Given the description of an element on the screen output the (x, y) to click on. 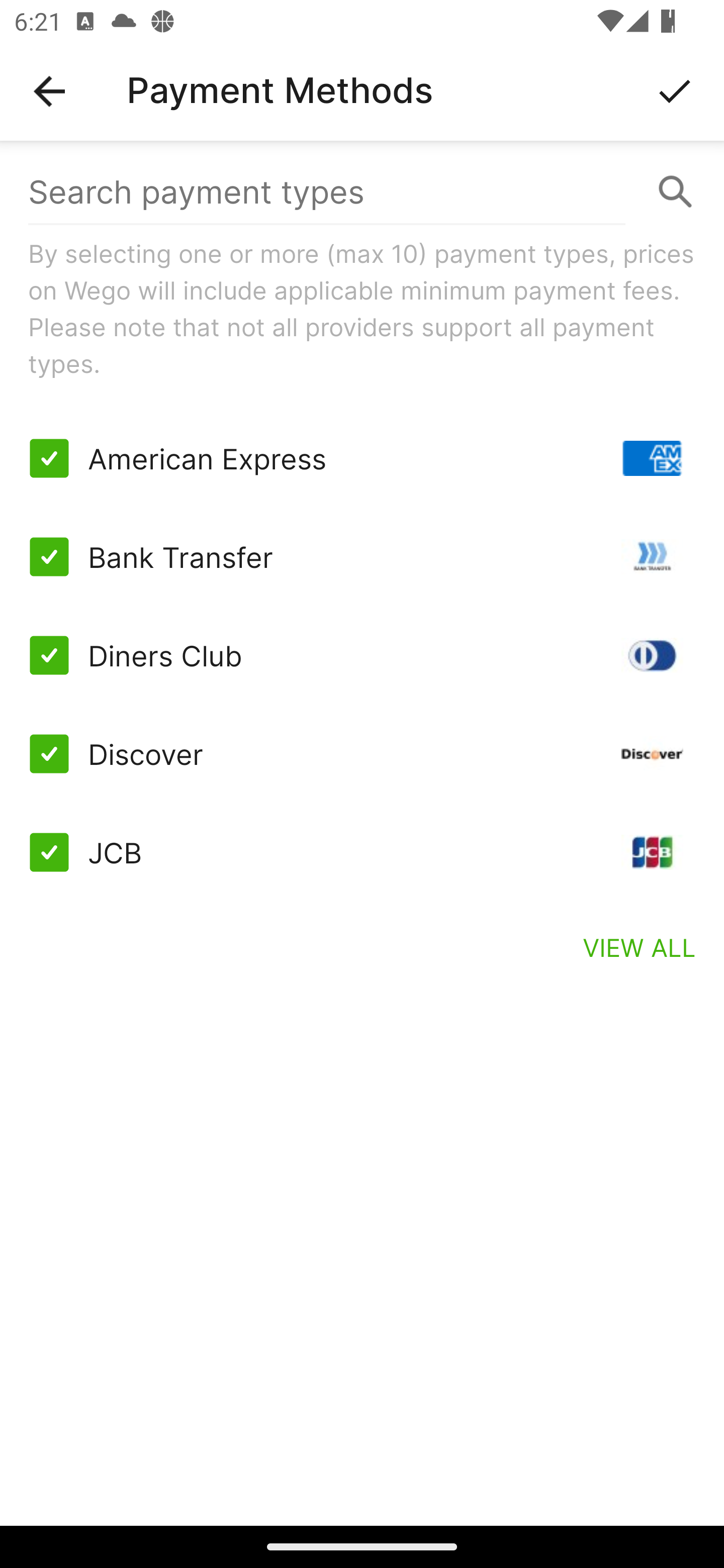
Search payment types  (361, 191)
American Express (362, 458)
Bank Transfer (362, 557)
Diners Club (362, 655)
Discover (362, 753)
JCB (362, 851)
VIEW ALL (639, 946)
